Given the description of an element on the screen output the (x, y) to click on. 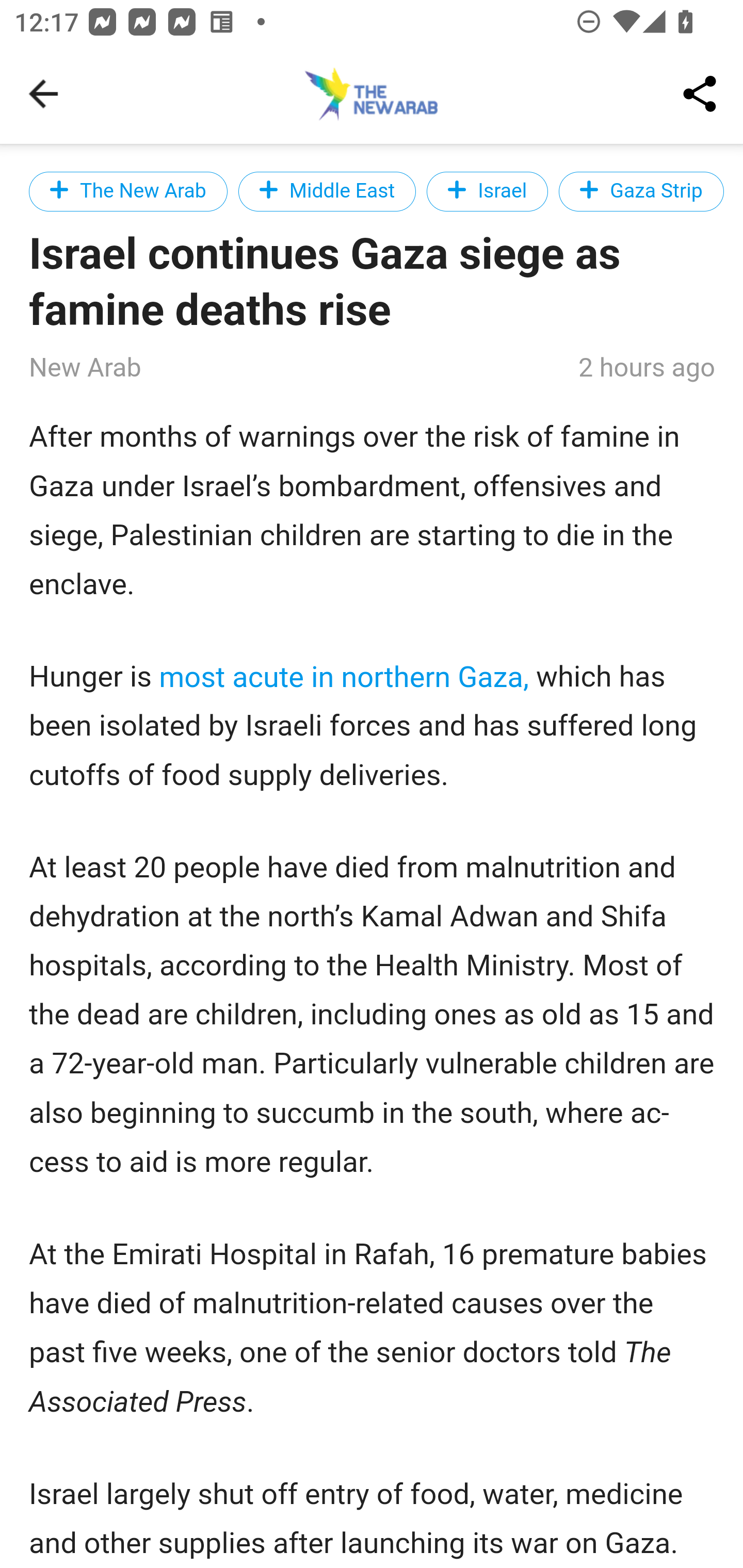
The New Arab (128, 191)
Middle East (326, 191)
Israel (487, 191)
Gaza Strip (640, 191)
most acute in northern Gaza, (345, 676)
